Given the description of an element on the screen output the (x, y) to click on. 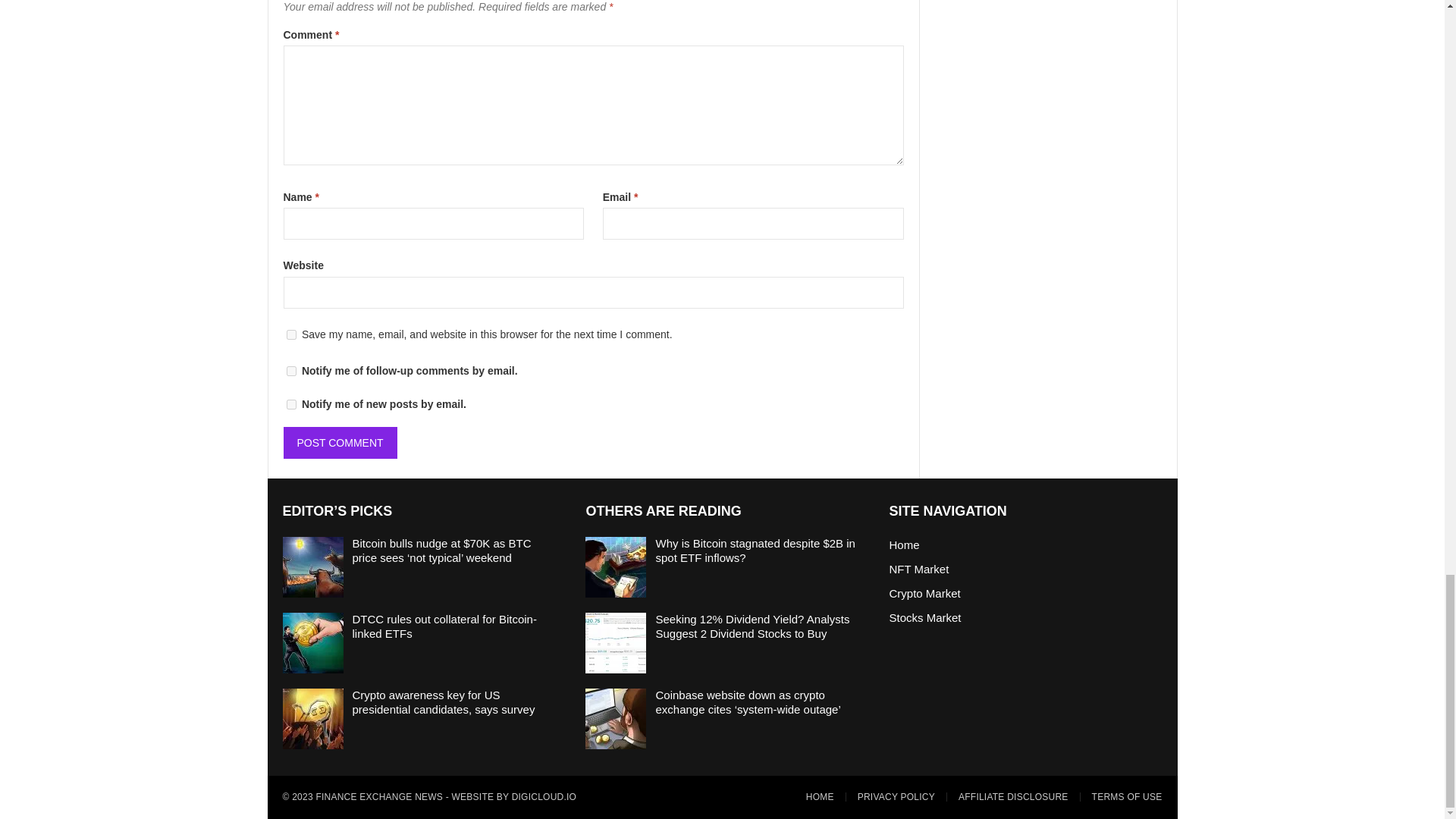
Post Comment (340, 442)
subscribe (291, 370)
subscribe (291, 404)
Post Comment (340, 442)
yes (291, 334)
